Given the description of an element on the screen output the (x, y) to click on. 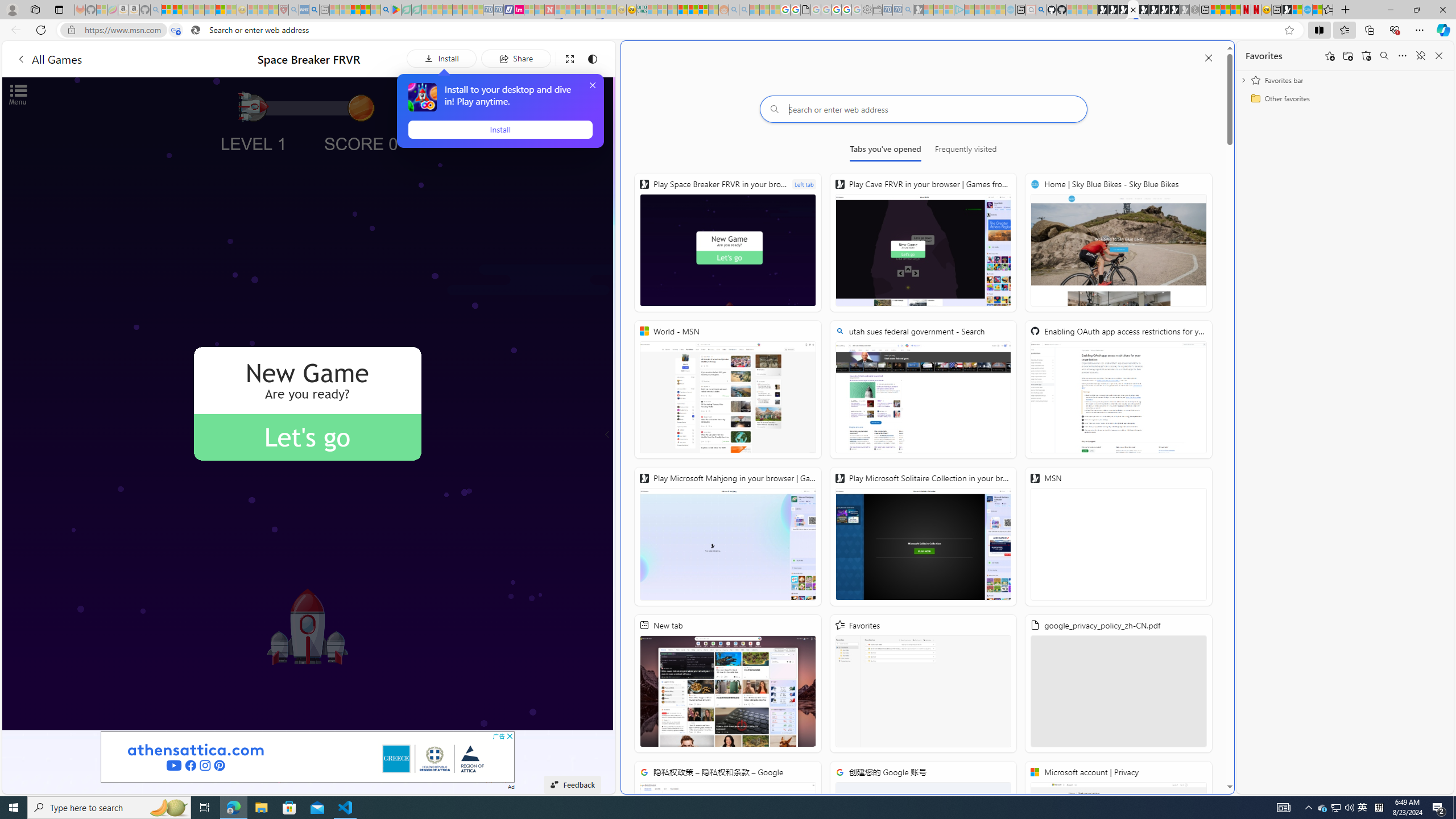
Wallet - Sleeping (876, 9)
Install (499, 129)
Close favorites (1439, 55)
utah sues federal government - Search (314, 9)
Advertisement (307, 756)
github - Search (1040, 9)
